Given the description of an element on the screen output the (x, y) to click on. 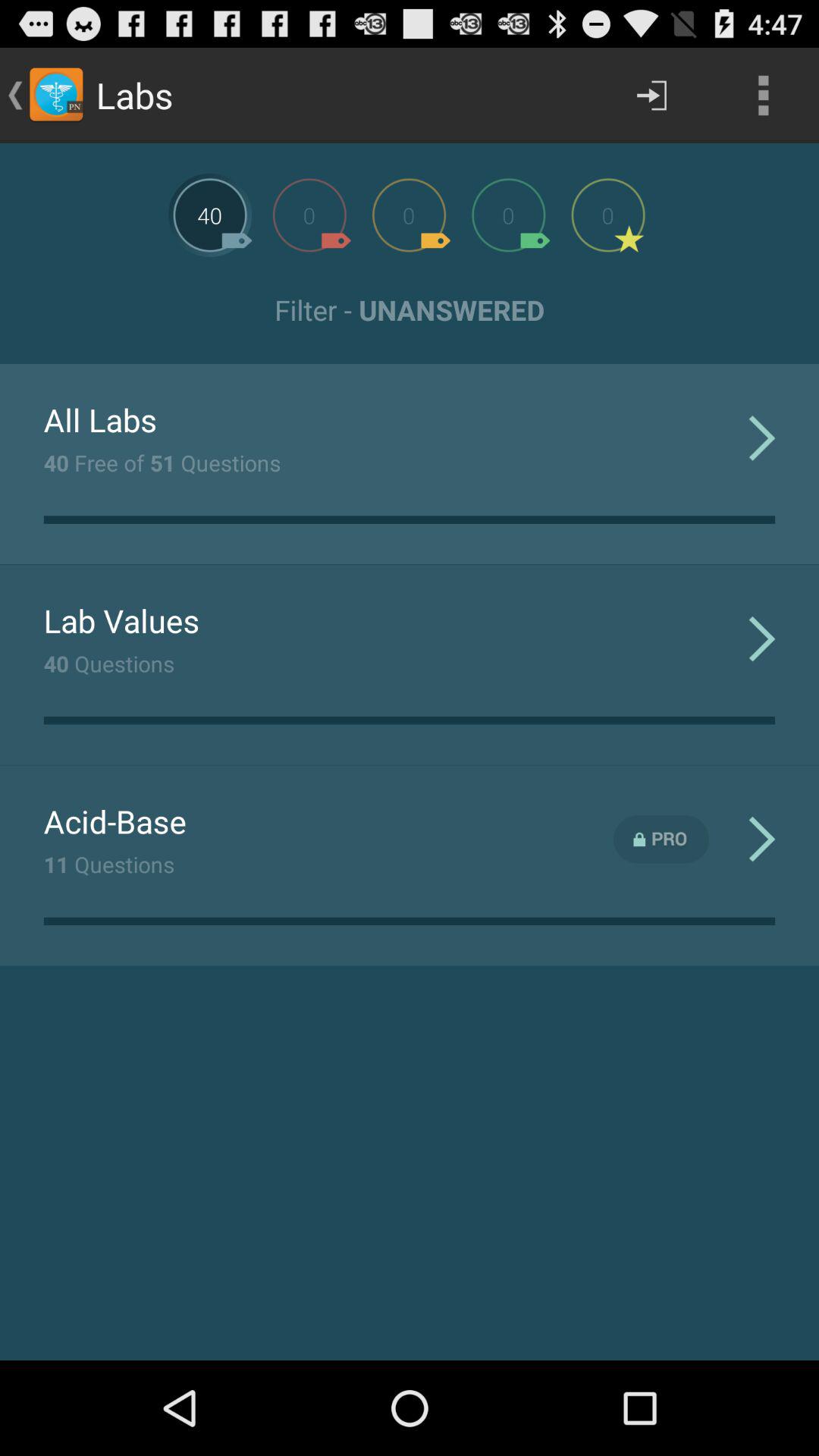
unlock pro (661, 839)
